Given the description of an element on the screen output the (x, y) to click on. 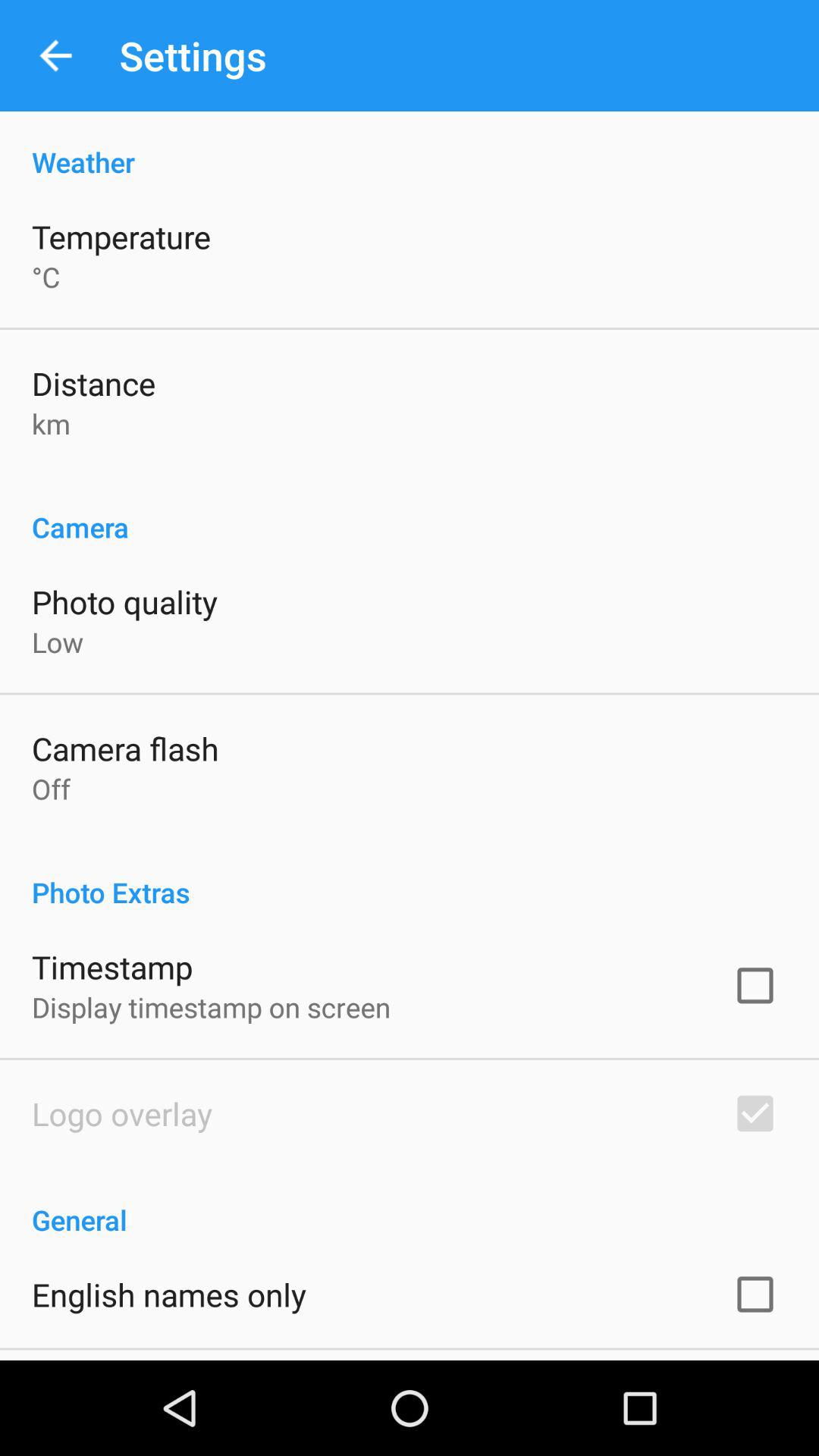
scroll until photo quality item (124, 601)
